Given the description of an element on the screen output the (x, y) to click on. 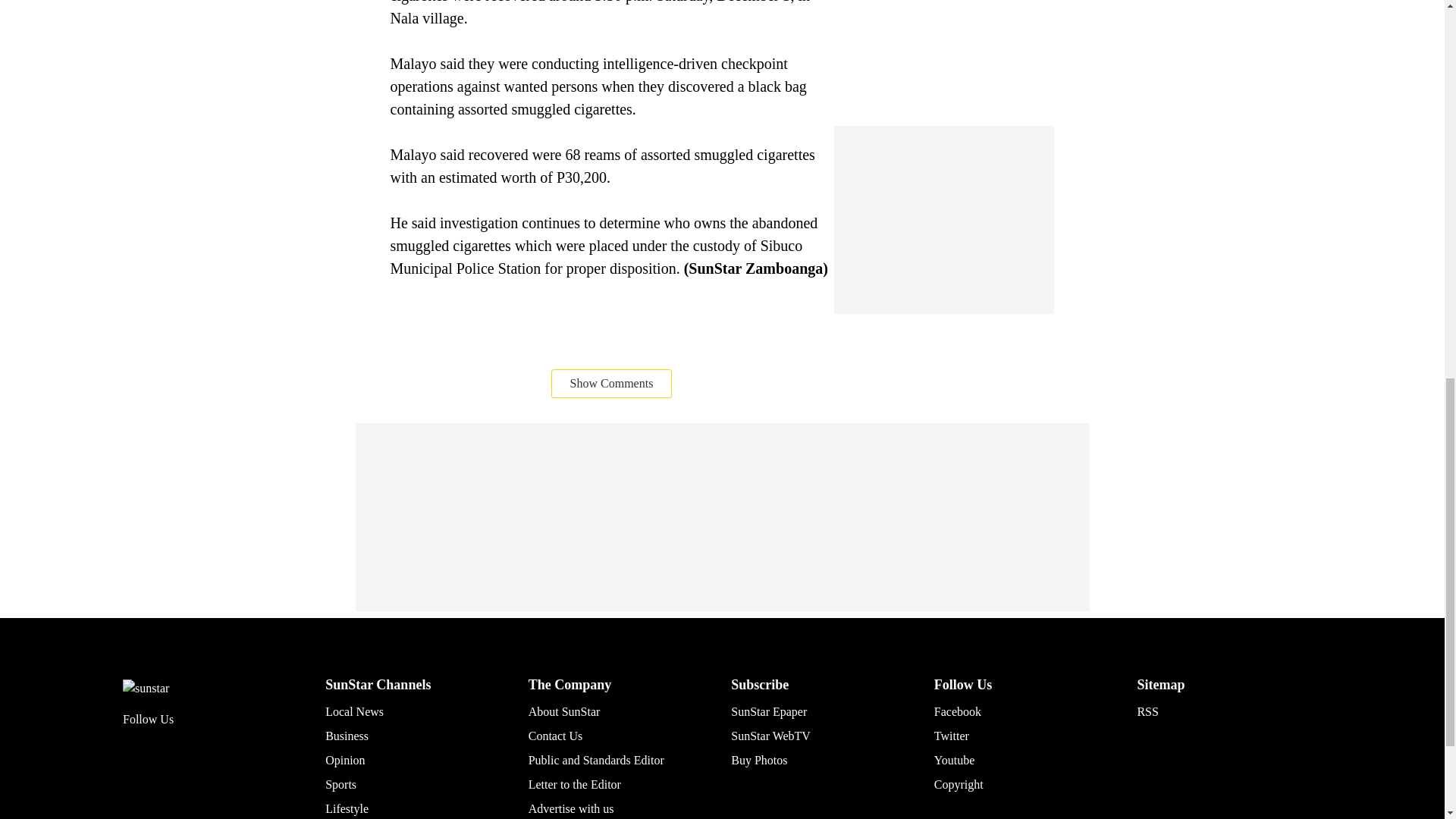
Sports (340, 784)
Business (346, 735)
Lifestyle (346, 808)
Opinion (344, 759)
Show Comments (611, 382)
Local News (354, 711)
